Given the description of an element on the screen output the (x, y) to click on. 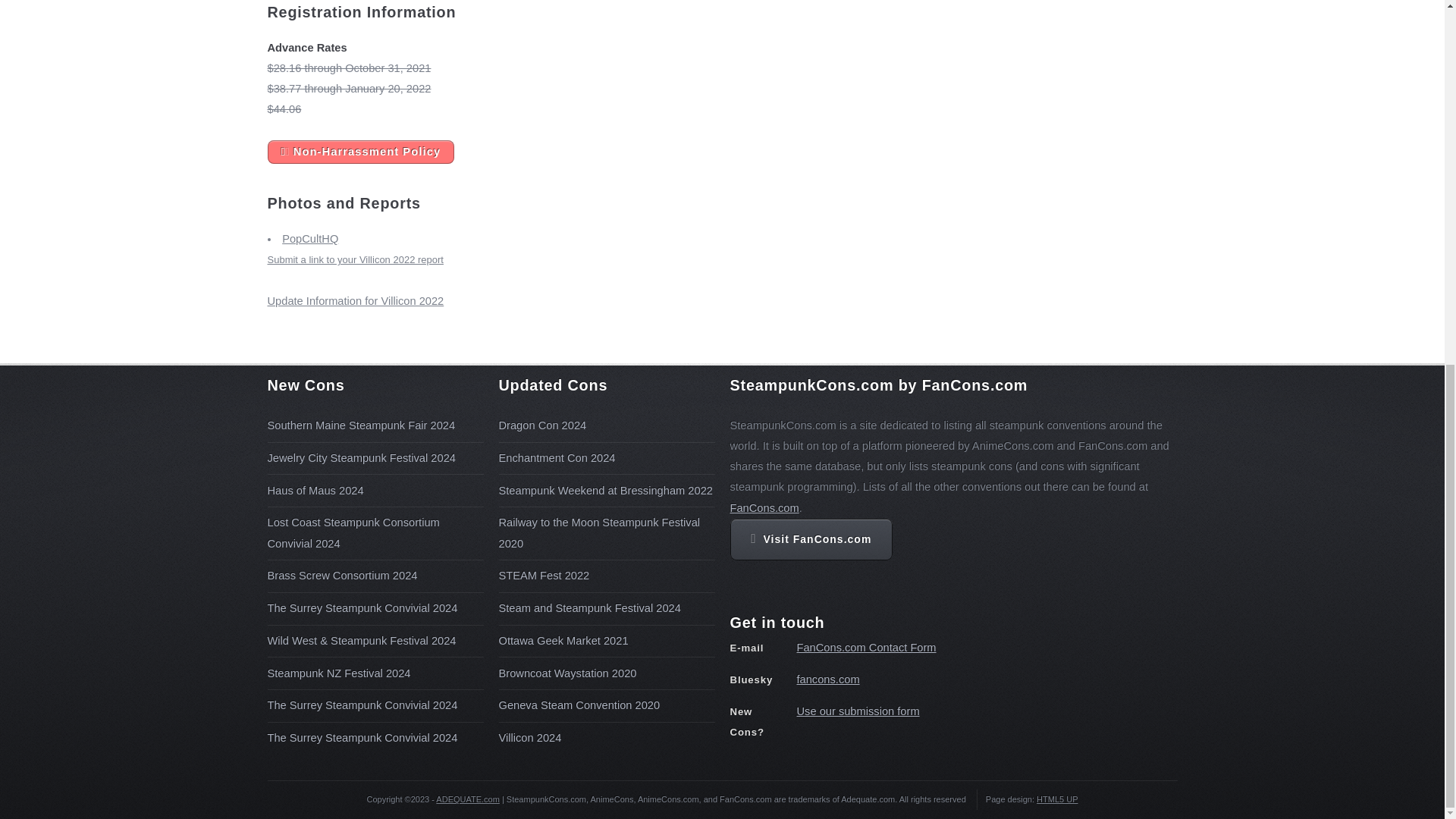
Southern Maine Steampunk Fair 2024 (360, 425)
Non-Harrassment Policy (360, 151)
The Surrey Steampunk Convivial 2024 (361, 607)
Haus of Maus 2024 (314, 490)
Brass Screw Consortium 2024 (341, 575)
Update Information for Villicon 2022 (355, 300)
Lost Coast Steampunk Consortium Convivial 2024 (352, 532)
Submit a link to your Villicon 2022 report (354, 259)
The Surrey Steampunk Convivial 2024 (361, 737)
PopCultHQ (309, 238)
